Given the description of an element on the screen output the (x, y) to click on. 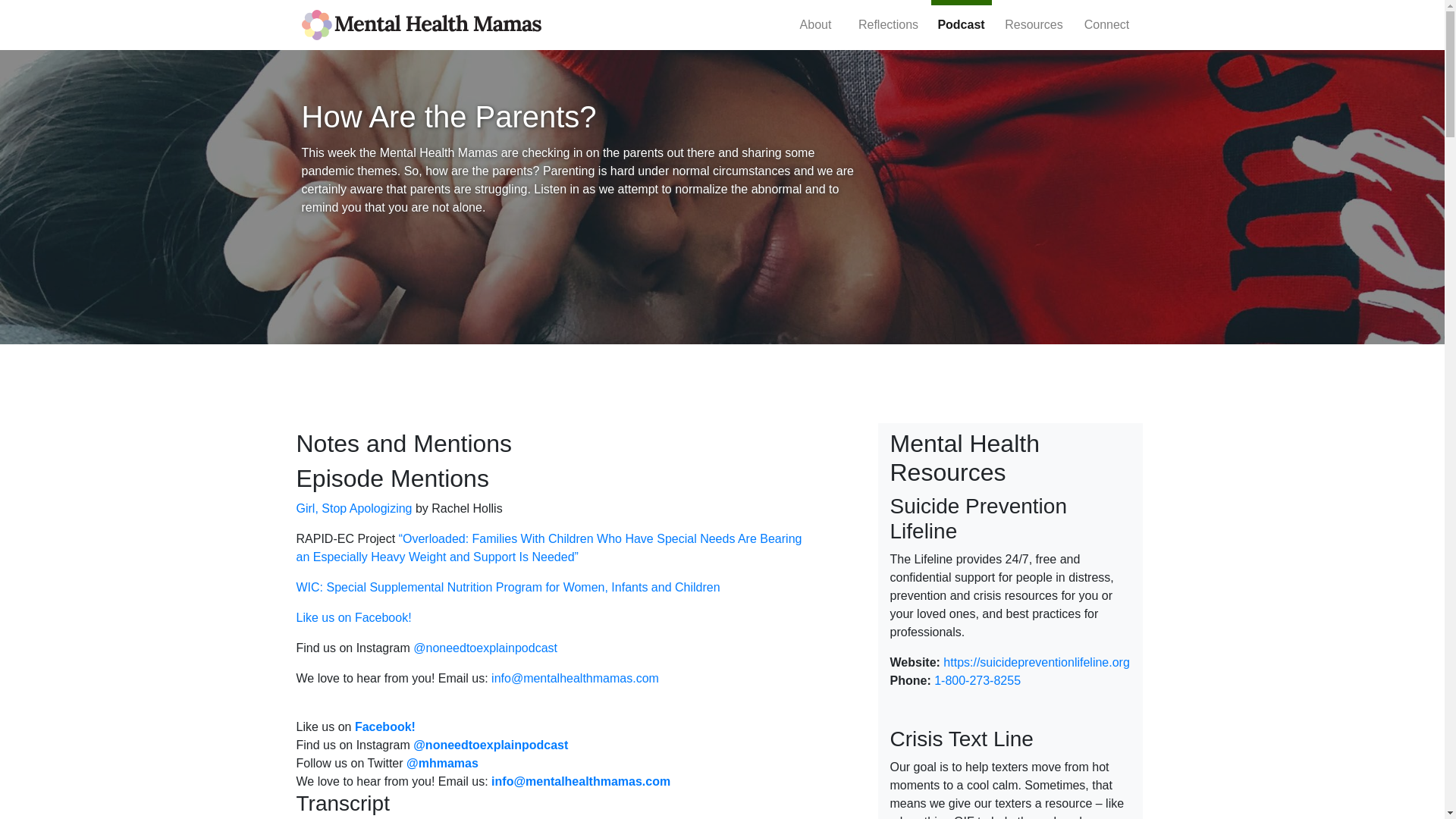
Girl, Stop Apologizing (353, 508)
Resources (1033, 24)
Facebook! (384, 726)
Connect (1106, 24)
About (814, 24)
Like us on Facebook! (352, 617)
Reflections (887, 24)
Podcast (960, 24)
1-800-273-8255 (977, 680)
